Given the description of an element on the screen output the (x, y) to click on. 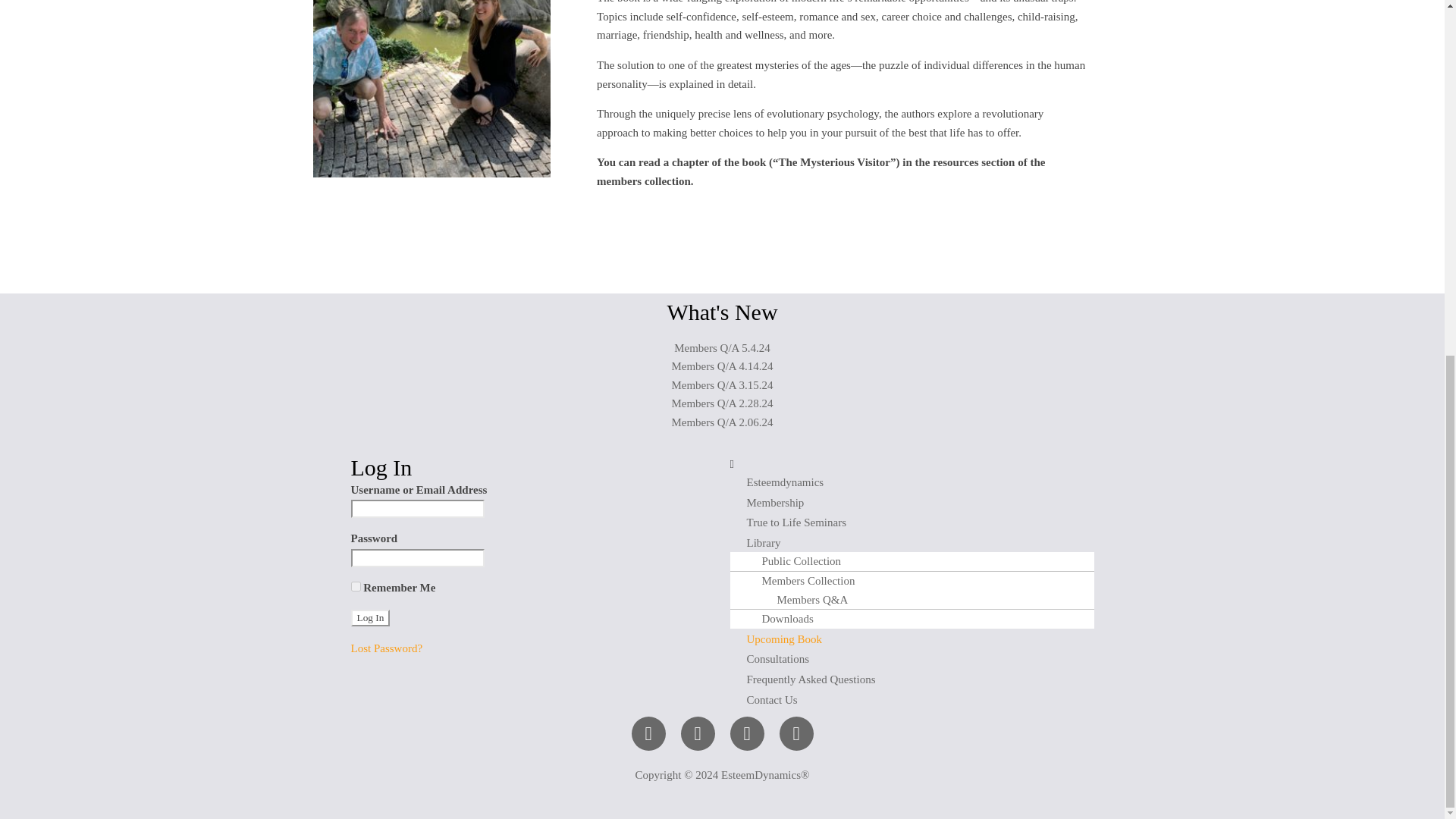
Log In (370, 617)
Esteemdynamics (784, 482)
True to Life Seminars (796, 522)
Downloads (779, 618)
Membership (775, 502)
Consultations (777, 658)
Lost Password? (386, 648)
Upcoming Book (783, 638)
Log In (370, 617)
Public Collection (793, 560)
Library (762, 542)
forever (354, 586)
Members Collection (799, 580)
